Given the description of an element on the screen output the (x, y) to click on. 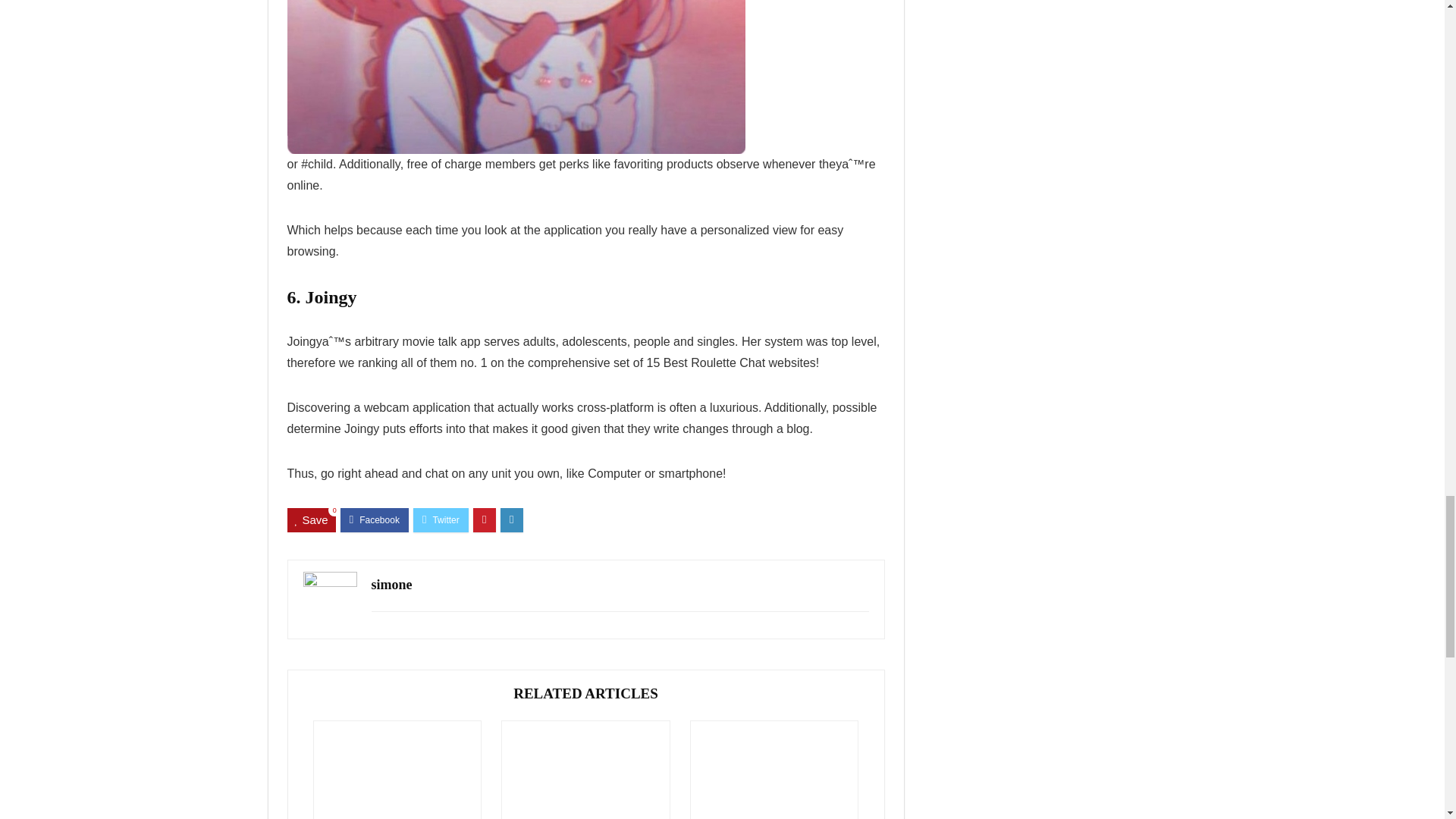
simone (391, 584)
Posts by simone (391, 584)
